Given the description of an element on the screen output the (x, y) to click on. 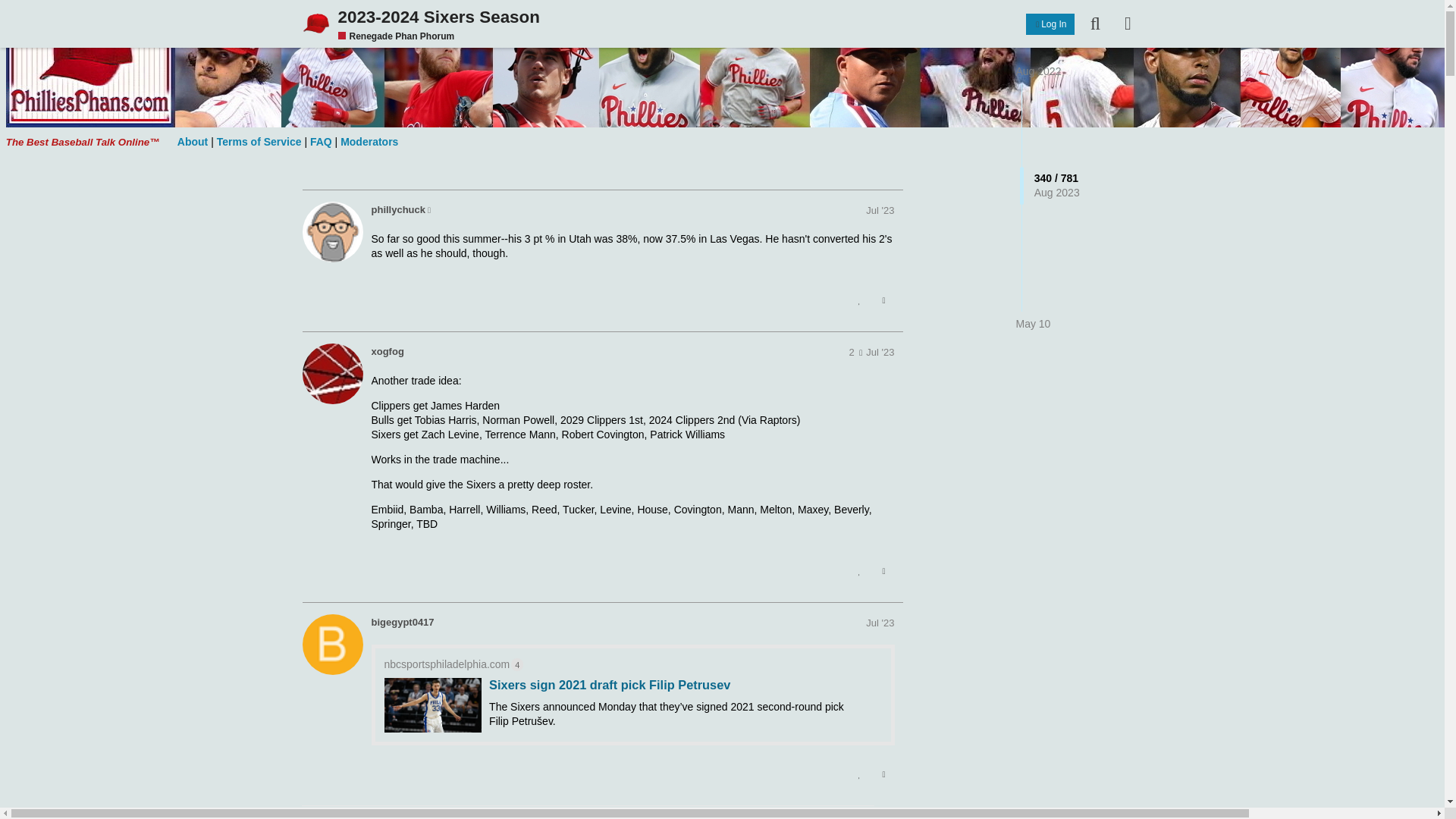
Jul '23 (879, 210)
2023-2024 Sixers Season (679, 17)
bigegypt0417 (331, 644)
2 (854, 351)
go to another topic list or category (1125, 22)
phillychuck (398, 209)
Jul 12, 2023 5:17 pm (879, 351)
Renegade Phan Phorum (395, 36)
Sixers sign 2021 draft pick Filip Petrusev (609, 684)
post last edited on Jul 13, 2023 2:20 am (854, 351)
